Given the description of an element on the screen output the (x, y) to click on. 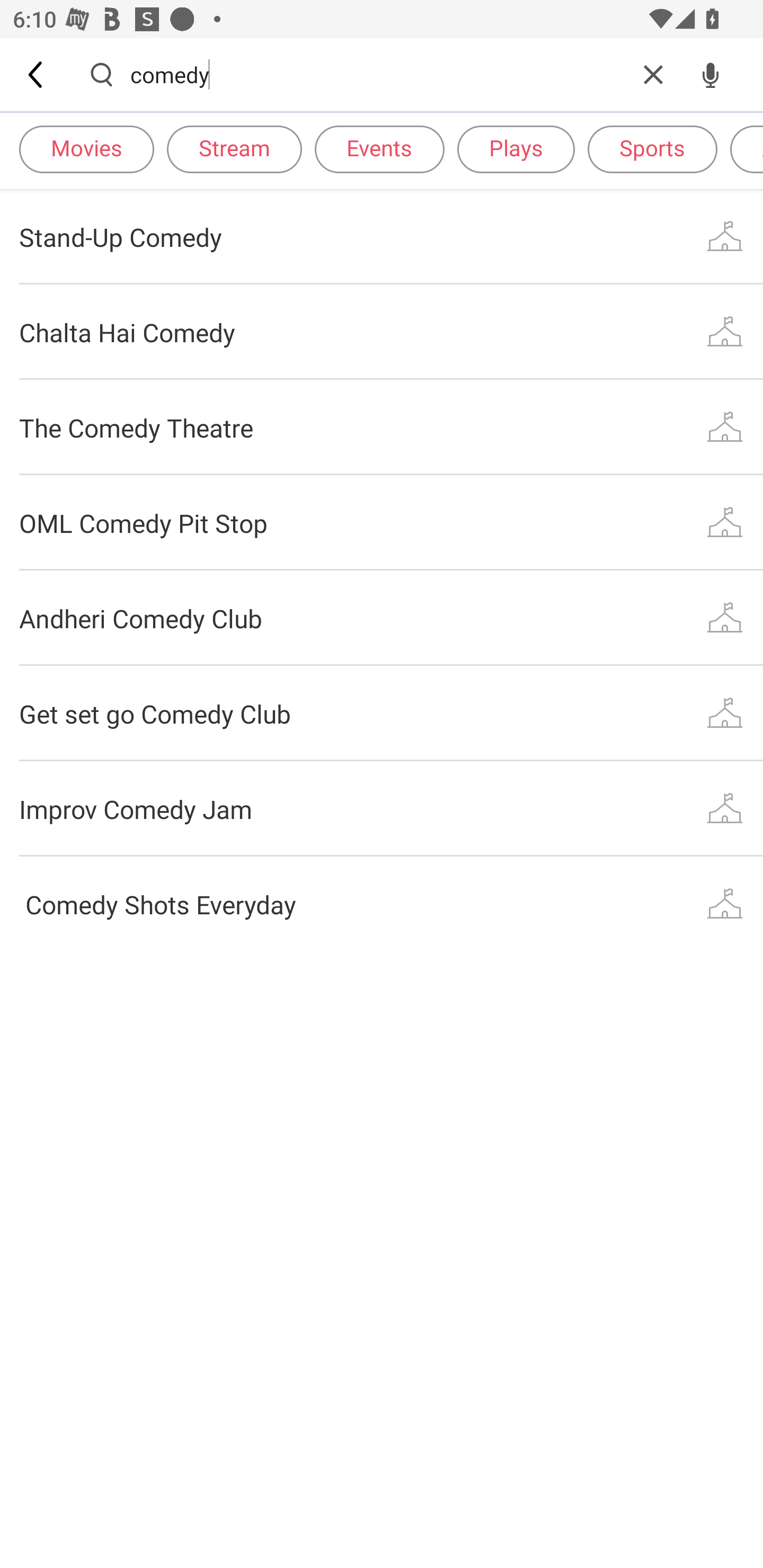
Back (36, 74)
comedy (377, 74)
Clear (653, 74)
Movies (86, 148)
Stream (234, 148)
Events (379, 148)
Plays (515, 148)
Sports (652, 148)
Stand-Up Comedy (381, 236)
Chalta Hai Comedy (381, 331)
The Comedy Theatre  (381, 427)
OML Comedy Pit Stop (381, 522)
Andheri Comedy Club (381, 618)
Get set go Comedy Club (381, 713)
Improv Comedy Jam (381, 808)
 Comedy Shots Everyday (381, 903)
